Given the description of an element on the screen output the (x, y) to click on. 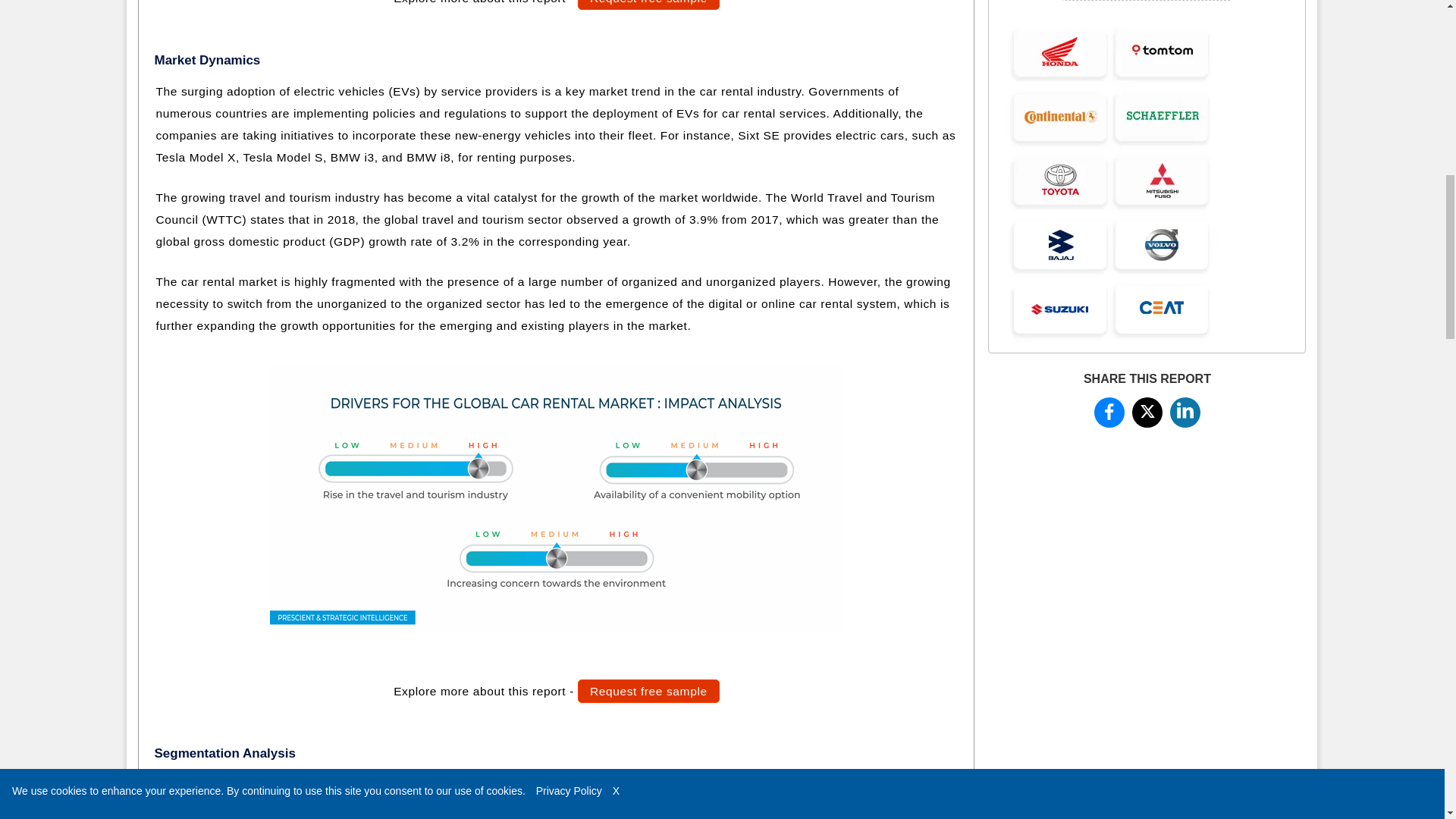
Share With Facebook (1109, 411)
Request free sample (648, 690)
Share With Linkedin (1184, 410)
Request free sample (648, 4)
Share With Twitter (1146, 409)
